Given the description of an element on the screen output the (x, y) to click on. 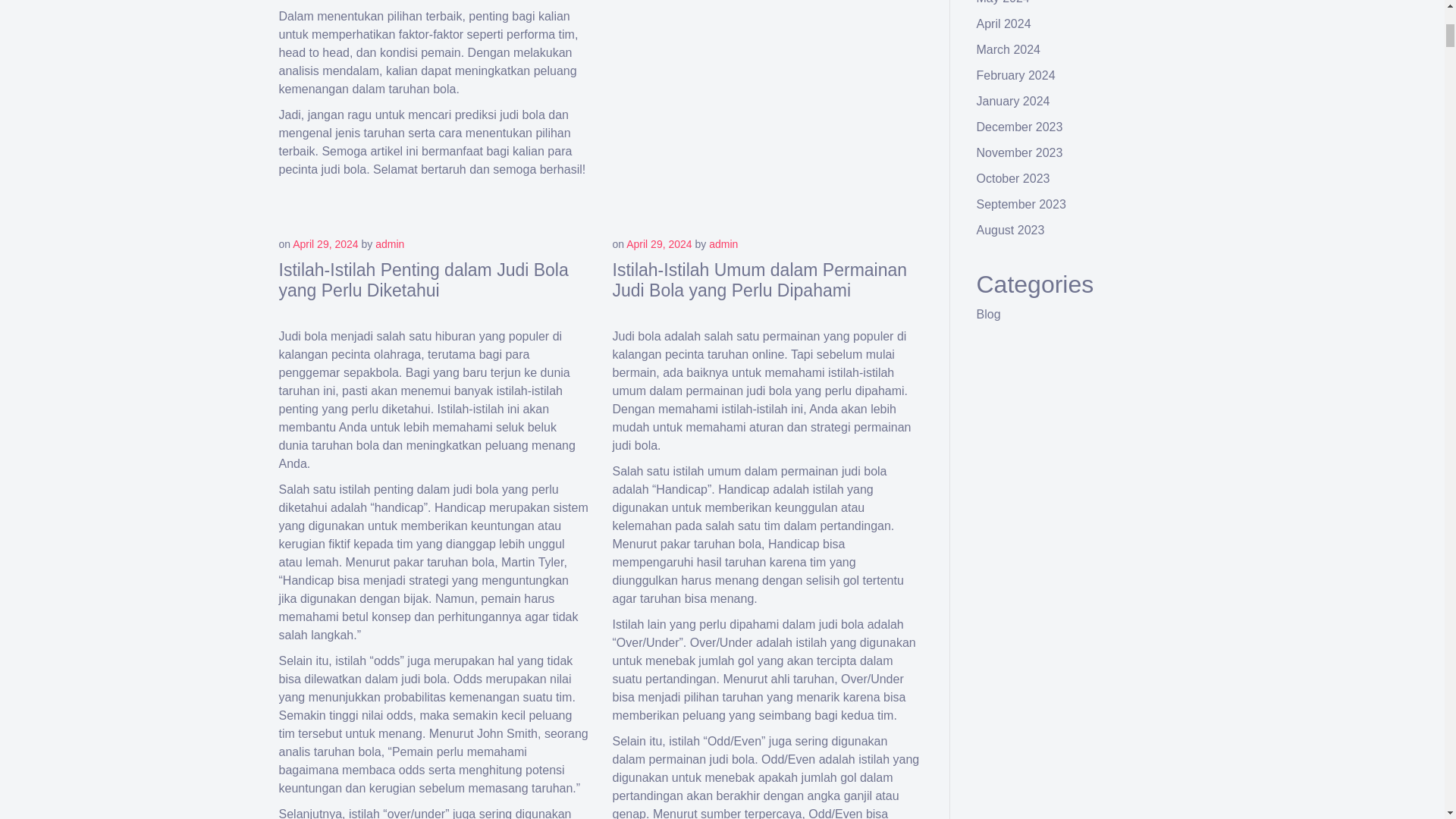
Istilah-Istilah Penting dalam Judi Bola yang Perlu Diketahui (424, 280)
admin (389, 244)
April 29, 2024 (658, 244)
April 29, 2024 (325, 244)
admin (723, 244)
